Given the description of an element on the screen output the (x, y) to click on. 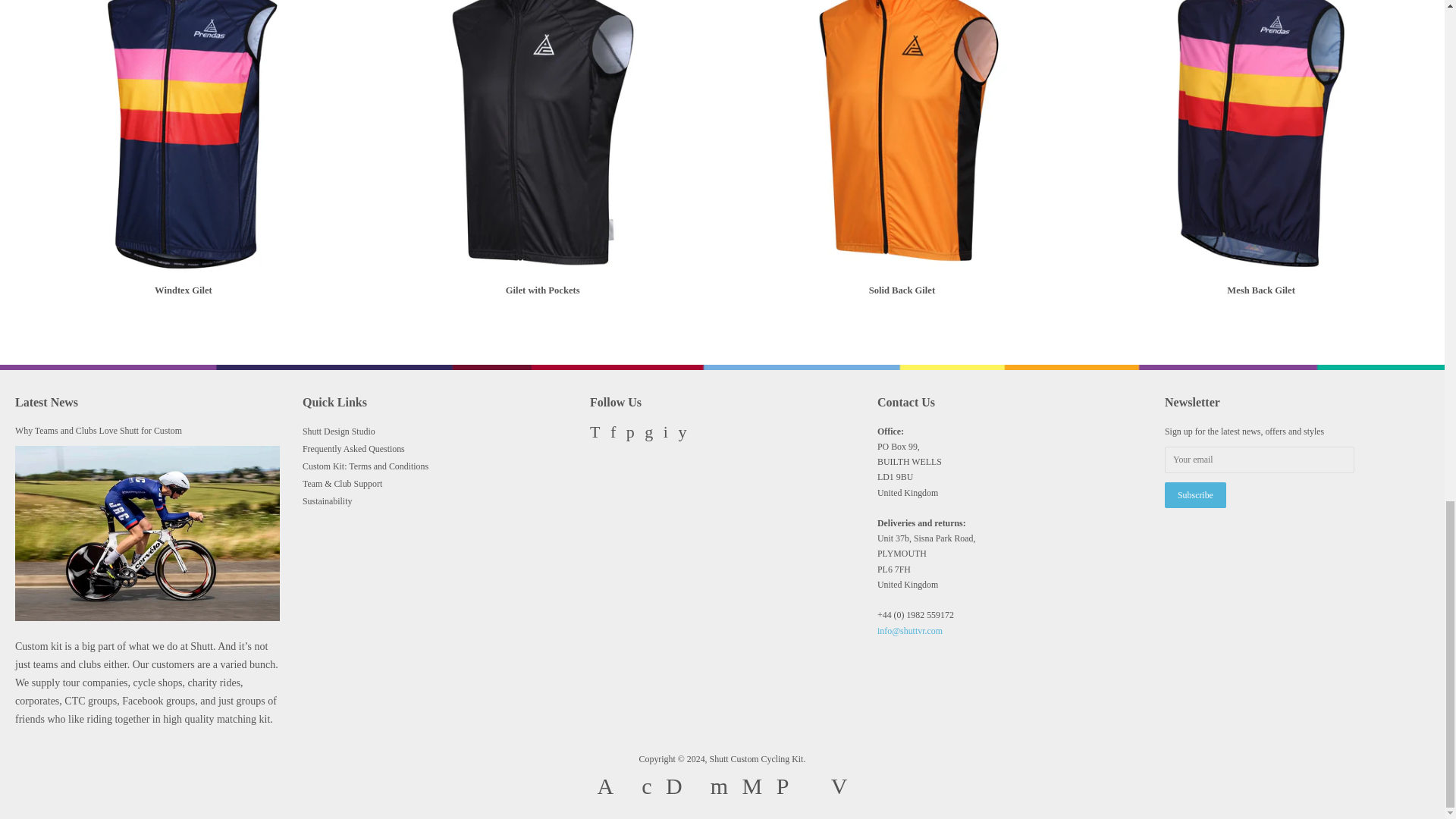
Gilet with Pockets (542, 162)
Windtex Gilet (183, 162)
Subscribe (1194, 495)
Mesh Back Gilet (1261, 162)
Shutt Design Studio (338, 430)
Shutt Custom Cycling Kit on Twitter (594, 434)
Why Teams and Clubs Love Shutt for Custom (98, 430)
Latest News (46, 401)
Solid Back Gilet (901, 162)
Frequently Asked Questions (353, 448)
